Given the description of an element on the screen output the (x, y) to click on. 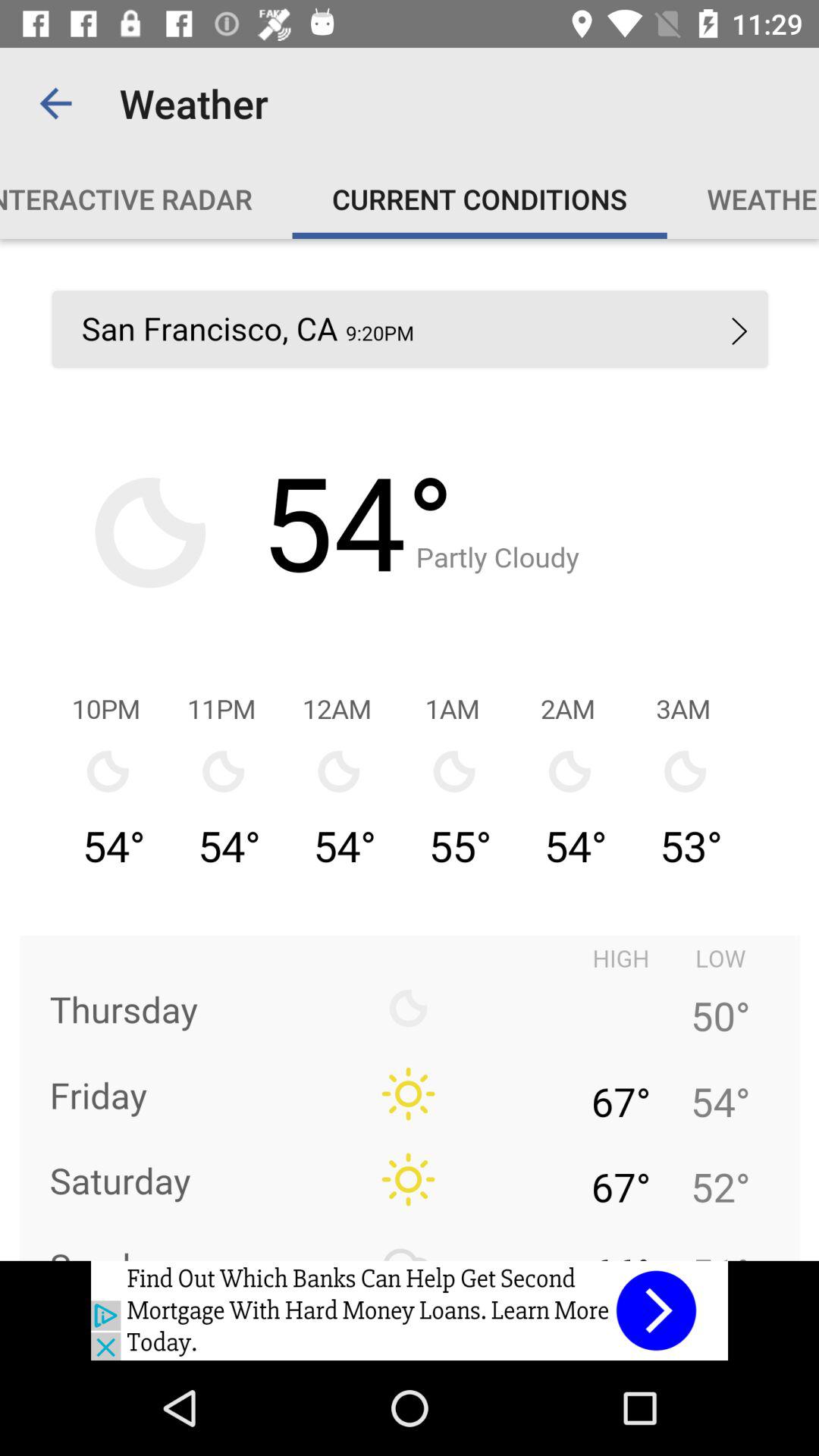
back (409, 1310)
